Given the description of an element on the screen output the (x, y) to click on. 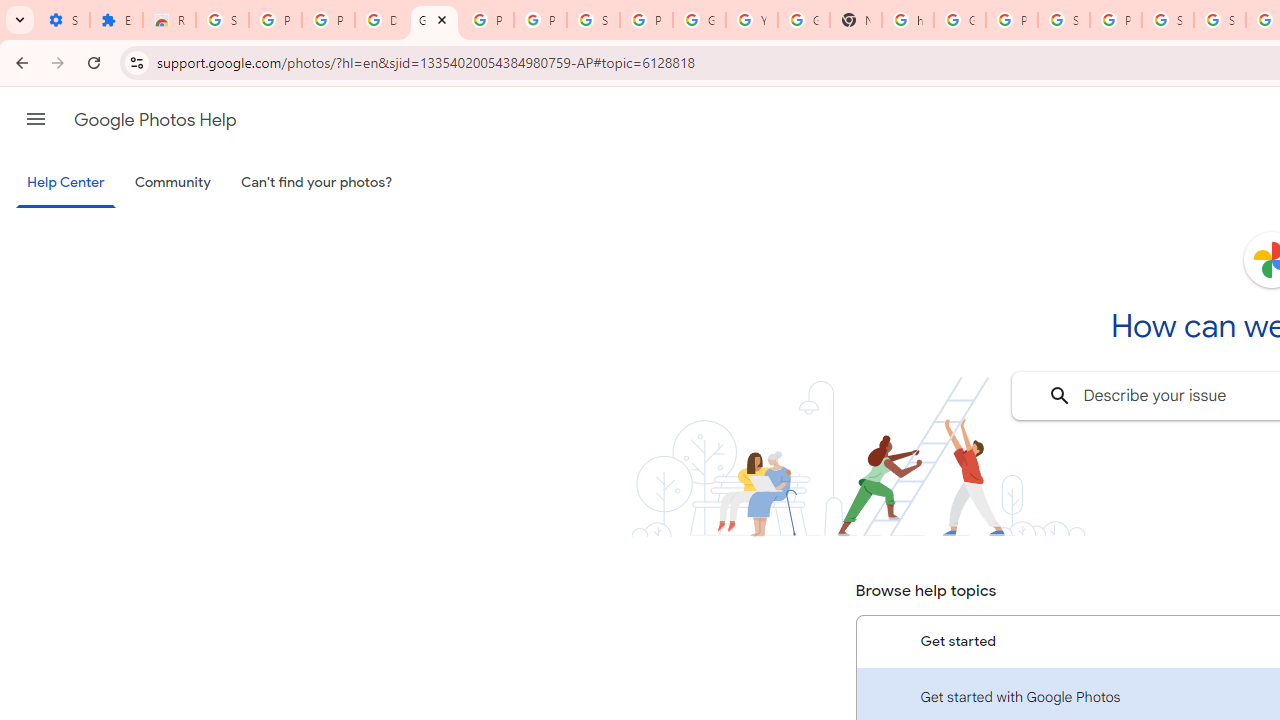
Google Photos Help (434, 20)
Google Account (699, 20)
